Given the description of an element on the screen output the (x, y) to click on. 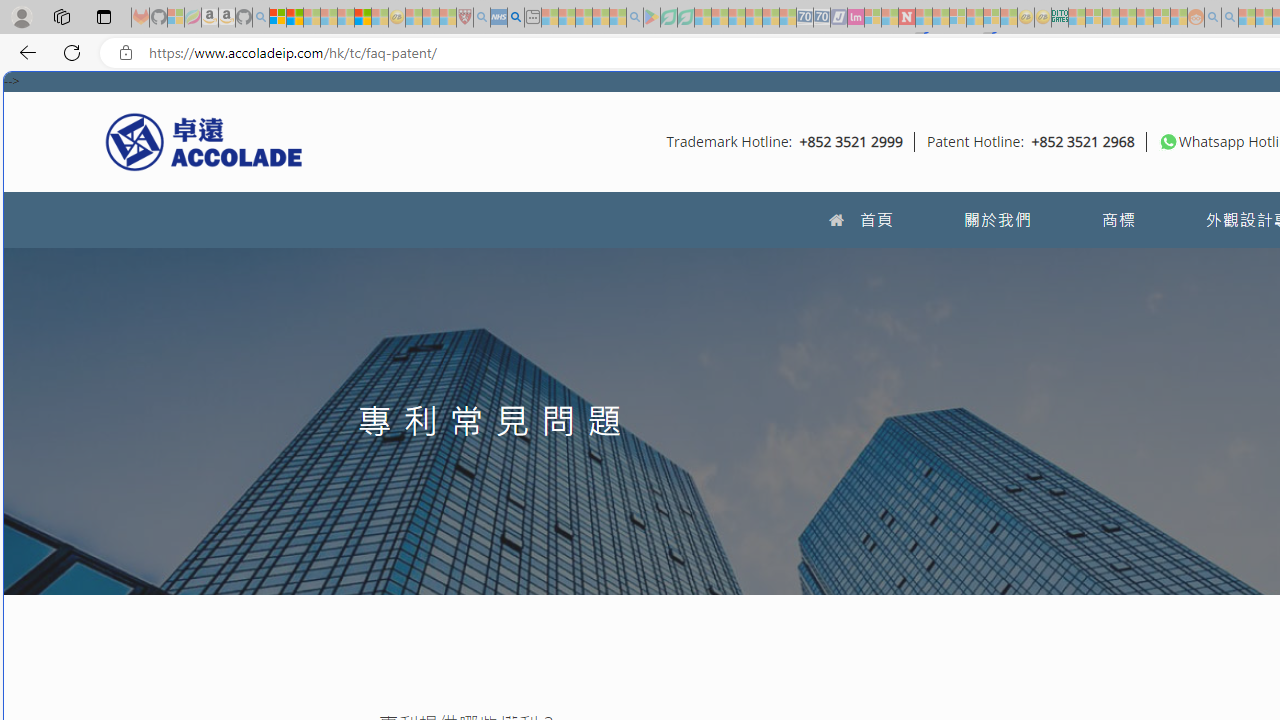
NCL Adult Asthma Inhaler Choice Guideline - Sleeping (498, 17)
Microsoft account | Privacy - Sleeping (1093, 17)
To get missing image descriptions, open the context menu. (1168, 141)
Tab actions menu (104, 16)
Terms of Use Agreement - Sleeping (668, 17)
Kinda Frugal - MSN - Sleeping (1144, 17)
Bluey: Let's Play! - Apps on Google Play - Sleeping (651, 17)
Expert Portfolios - Sleeping (1128, 17)
